Given the description of an element on the screen output the (x, y) to click on. 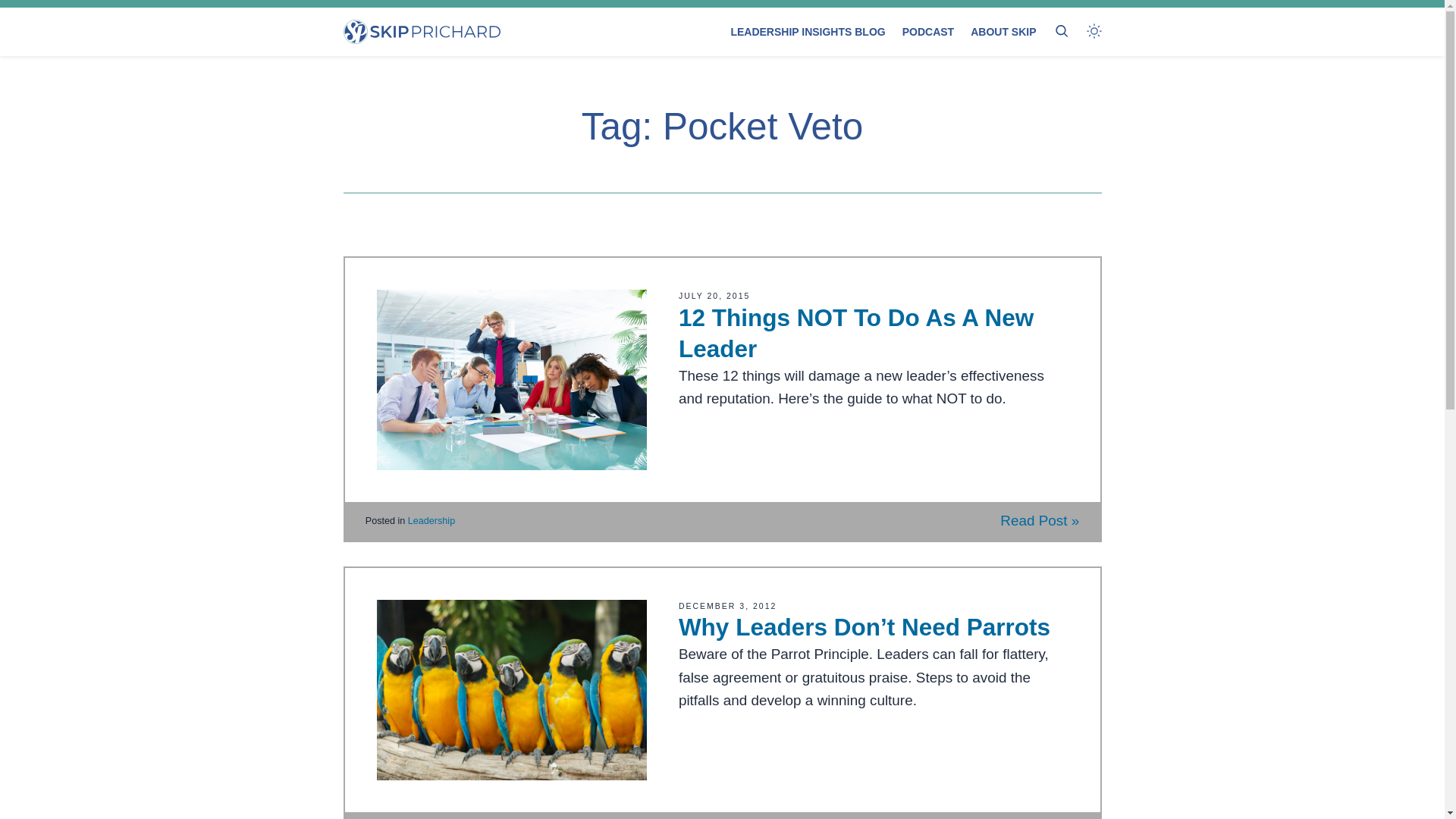
PODCAST (927, 31)
12 Things NOT To Do As A New Leader (855, 332)
ABOUT SKIP (1003, 31)
Aim Higher: the podcast with purpose (927, 31)
LEADERSHIP INSIGHTS BLOG (807, 31)
Learn more about Skip Prichard (1003, 31)
Leadership (430, 520)
